Given the description of an element on the screen output the (x, y) to click on. 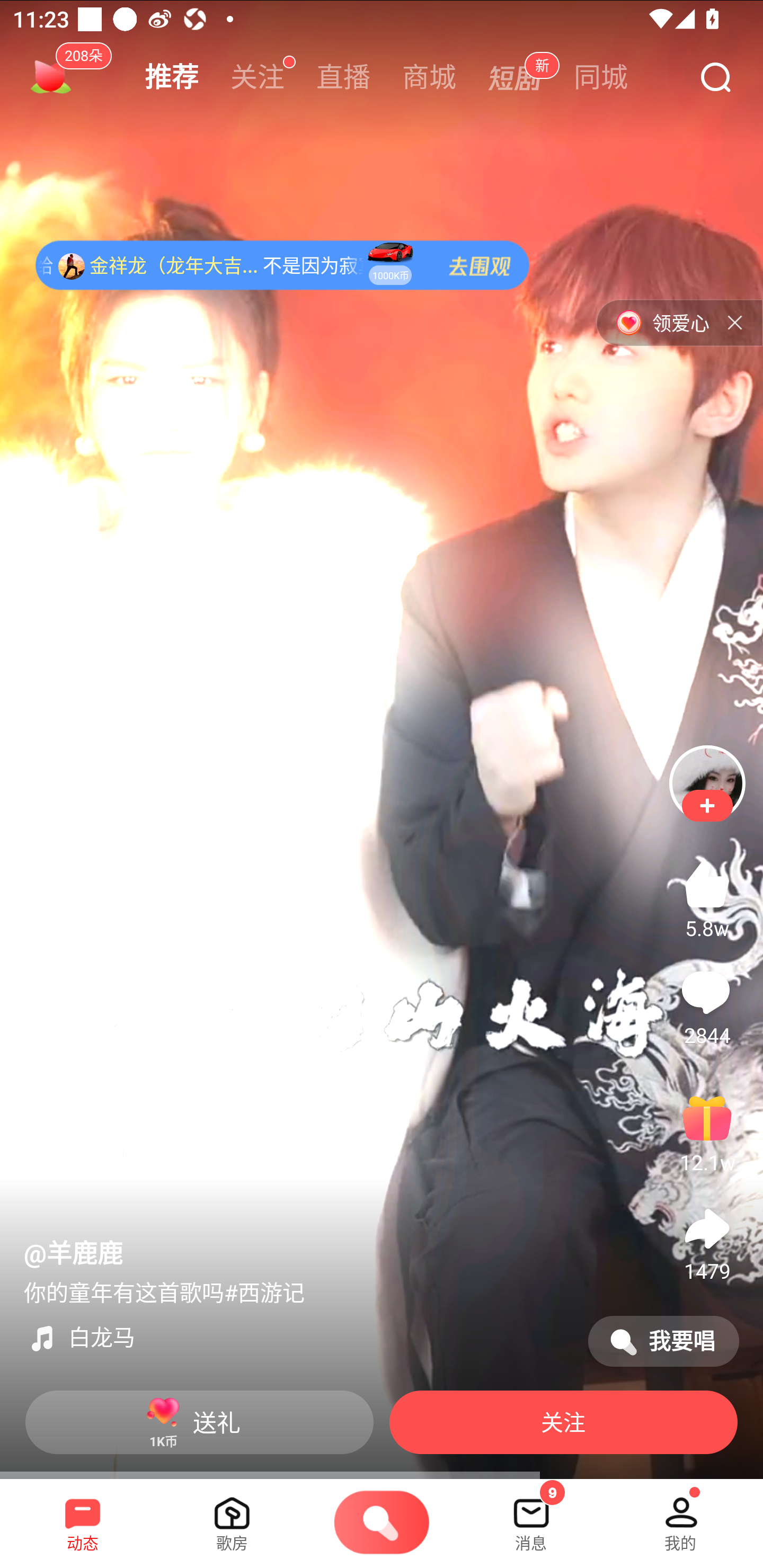
推荐 (171, 77)
关注 (257, 77)
直播 (343, 77)
商城 (429, 77)
同城 (600, 77)
任务中心 (50, 77)
搜索 (714, 78)
头像 (707, 782)
关注 (706, 805)
点赞58760 5.8w (706, 896)
评论2844 2844 (706, 1003)
送礼12.1w 12.1w (706, 1131)
分享1479 1479 (706, 1240)
@羊鹿鹿 (72, 1254)
你的童年有这首歌吗#西游记 (163, 1293)
白龙马 (297, 1338)
我要唱 (663, 1341)
1K币 送礼 (199, 1421)
关注 (563, 1421)
已选中动态 (82, 1516)
未选中歌房 (231, 1516)
未选中录歌 (381, 1523)
未选中消息 (530, 1516)
未选中我的 (680, 1516)
